Given the description of an element on the screen output the (x, y) to click on. 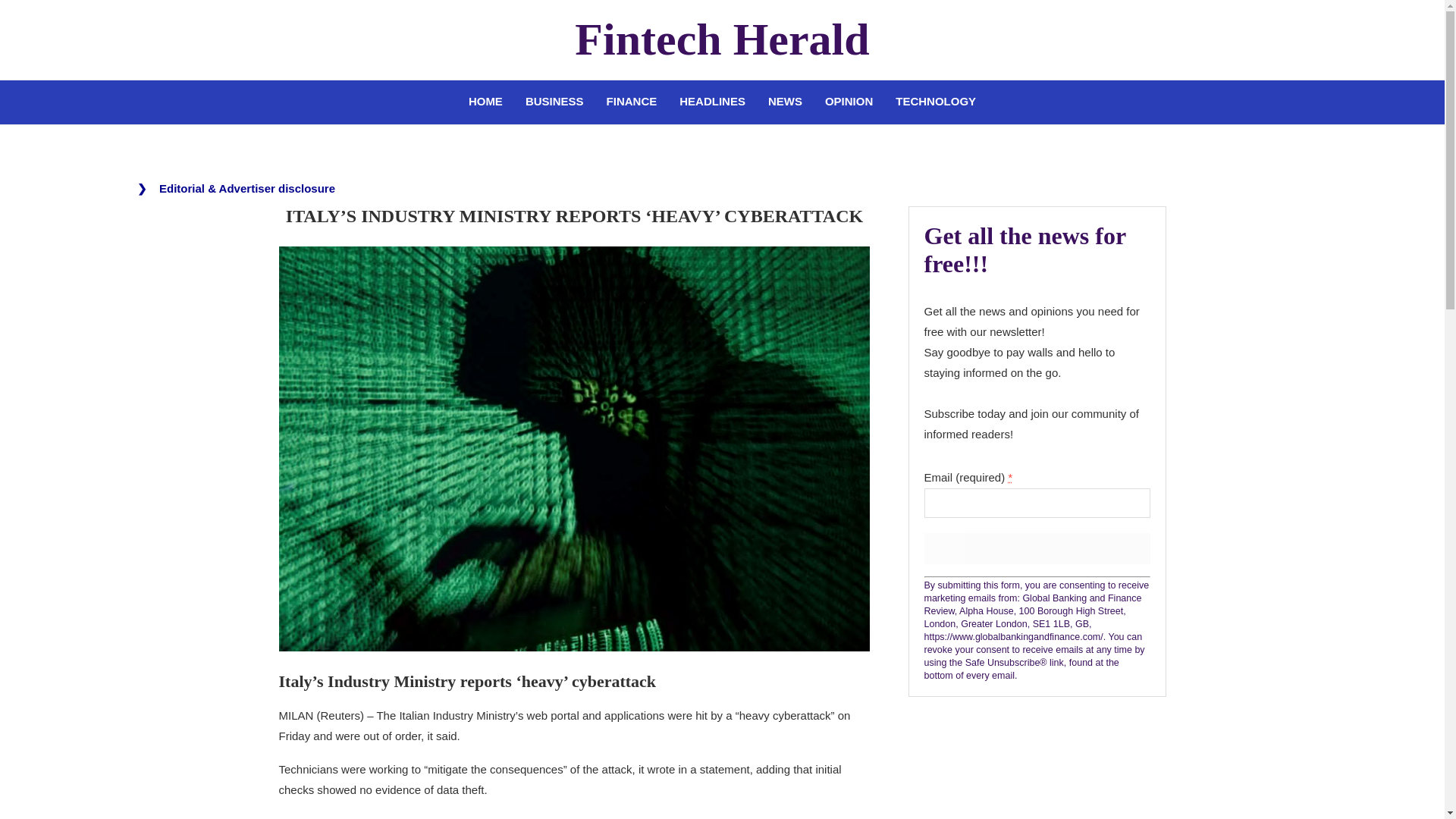
BUSINESS (554, 102)
TECHNOLOGY (935, 102)
HEADLINES (712, 102)
Sign up! (1036, 548)
NEWS (785, 102)
Sign up! (1036, 548)
FINANCE (631, 102)
OPINION (848, 102)
HOME (485, 102)
